Given the description of an element on the screen output the (x, y) to click on. 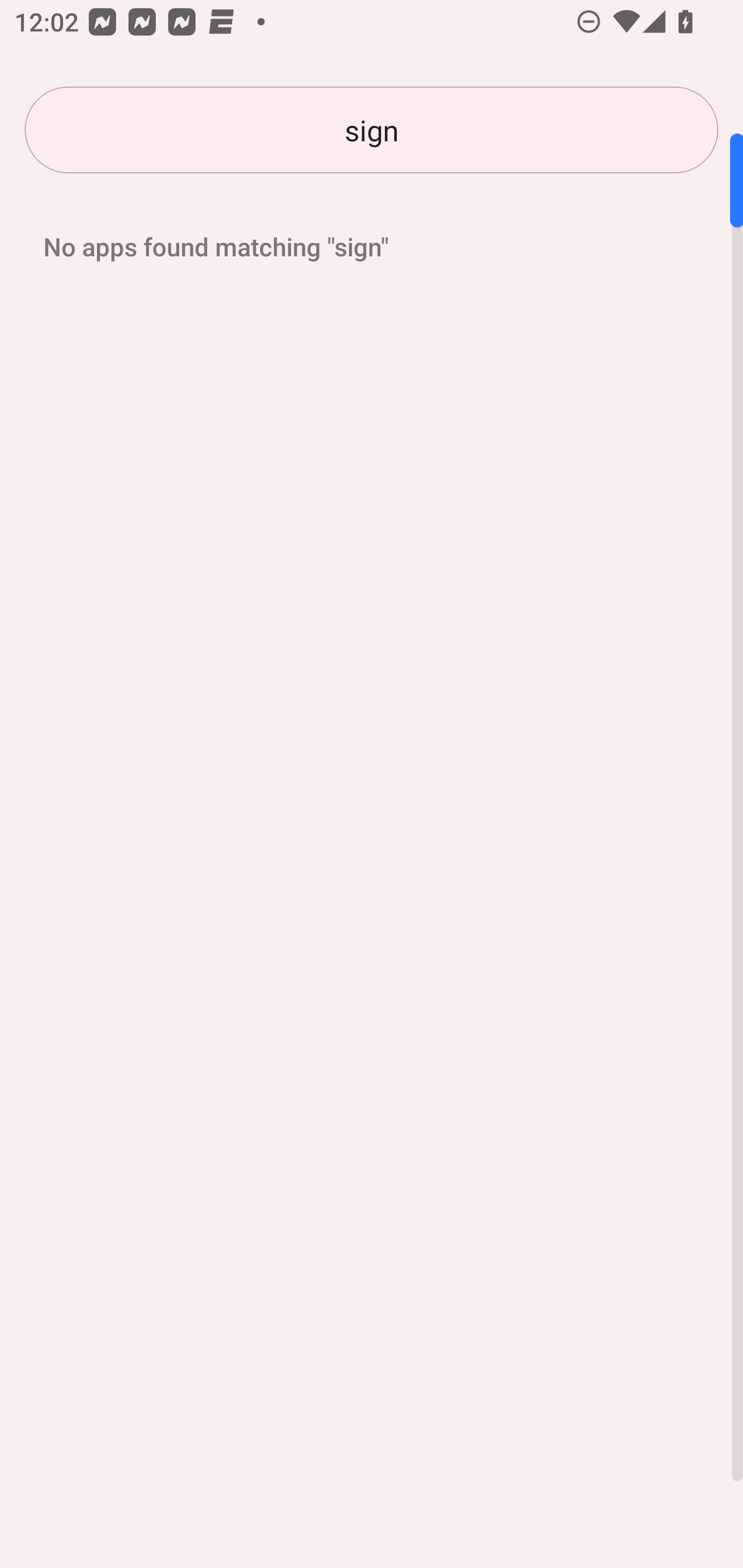
sign (371, 130)
